Given the description of an element on the screen output the (x, y) to click on. 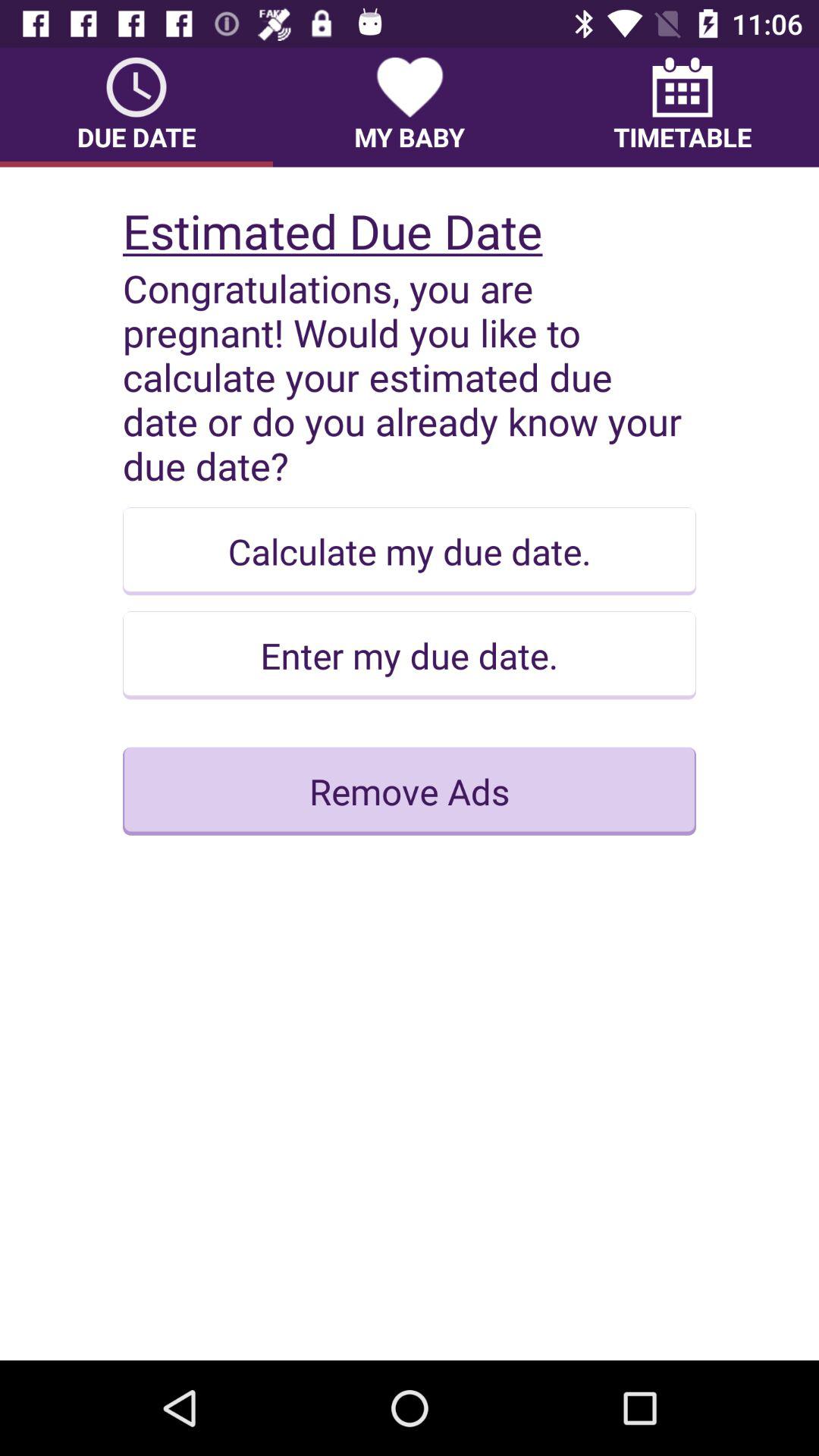
scroll until the my baby (409, 107)
